Given the description of an element on the screen output the (x, y) to click on. 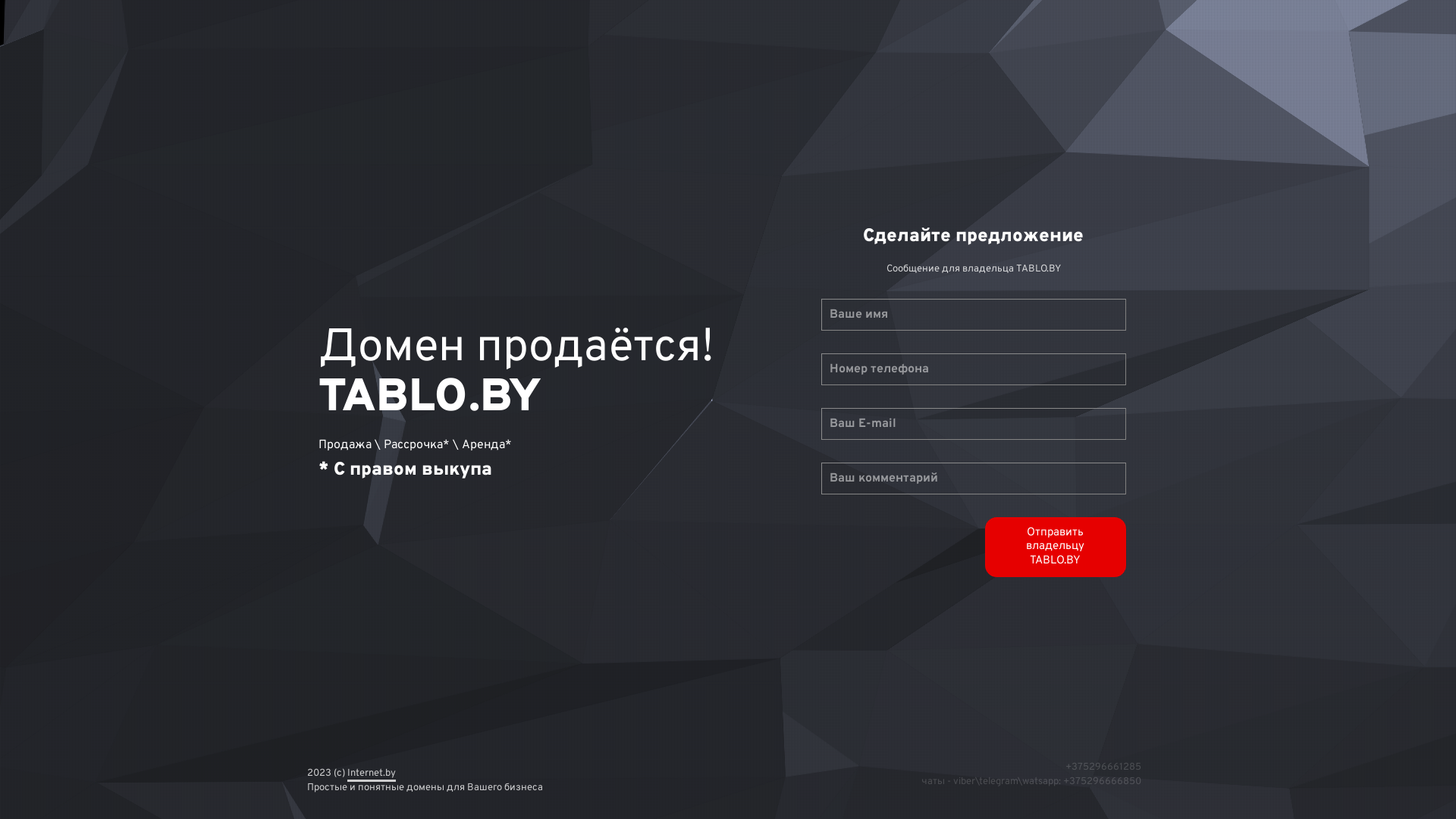
+375296661285 Element type: text (1103, 766)
LiveInternet Element type: hover (0, 6)
Internet.by Element type: text (371, 770)
